Given the description of an element on the screen output the (x, y) to click on. 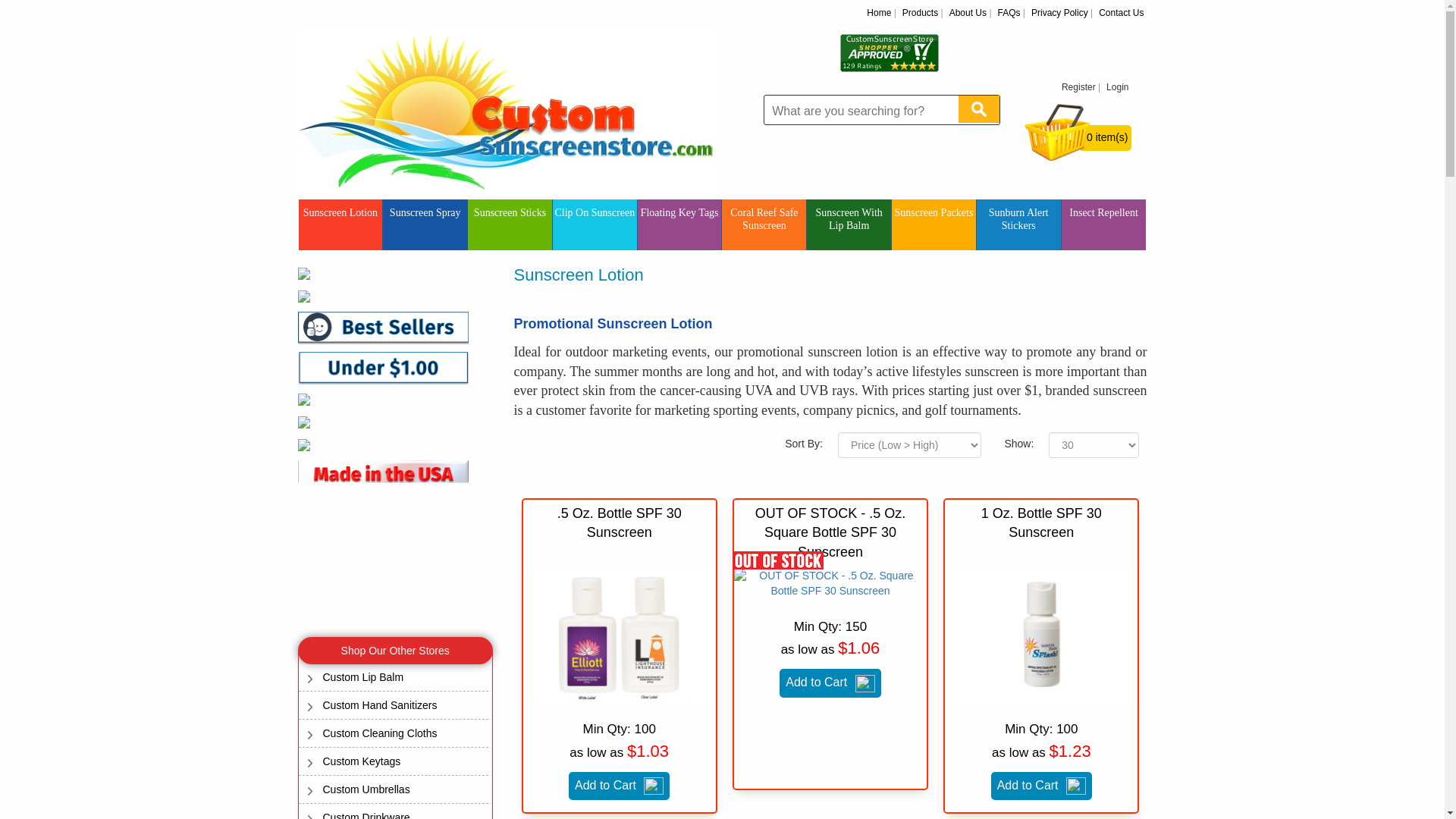
OUT OF STOCK - .5 Oz. Square Bottle SPF 30 Sunscreen (829, 583)
About Us (968, 12)
Sunscreen Packets (933, 214)
Sunscreen Sticks (509, 214)
Products (919, 12)
Add to Cart (1041, 786)
Search (979, 109)
Contact Us (1120, 12)
Home (878, 12)
Add to Cart (619, 786)
